Given the description of an element on the screen output the (x, y) to click on. 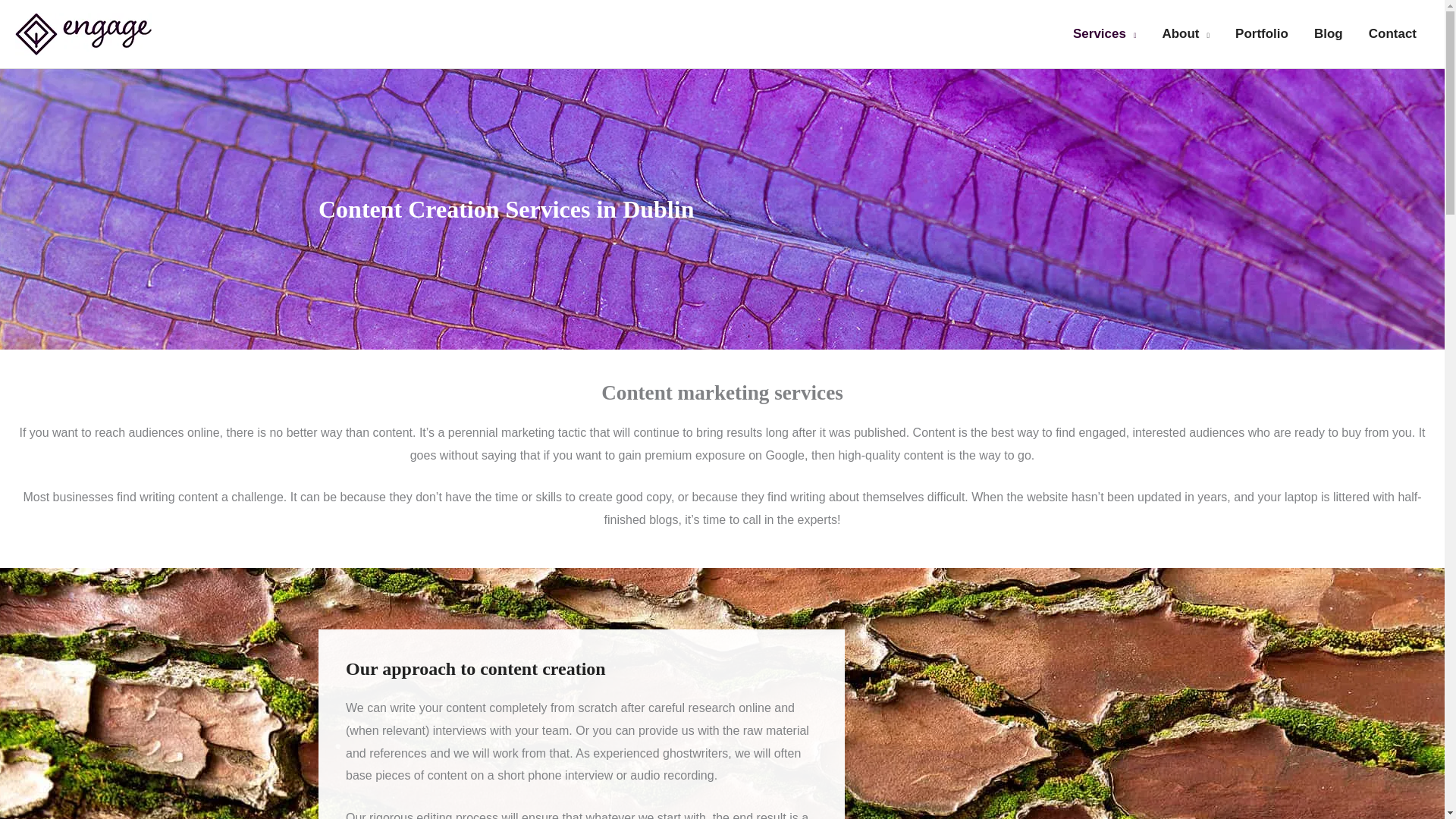
Portfolio (1262, 33)
Services (1103, 33)
About (1185, 33)
Contact (1392, 33)
